Given the description of an element on the screen output the (x, y) to click on. 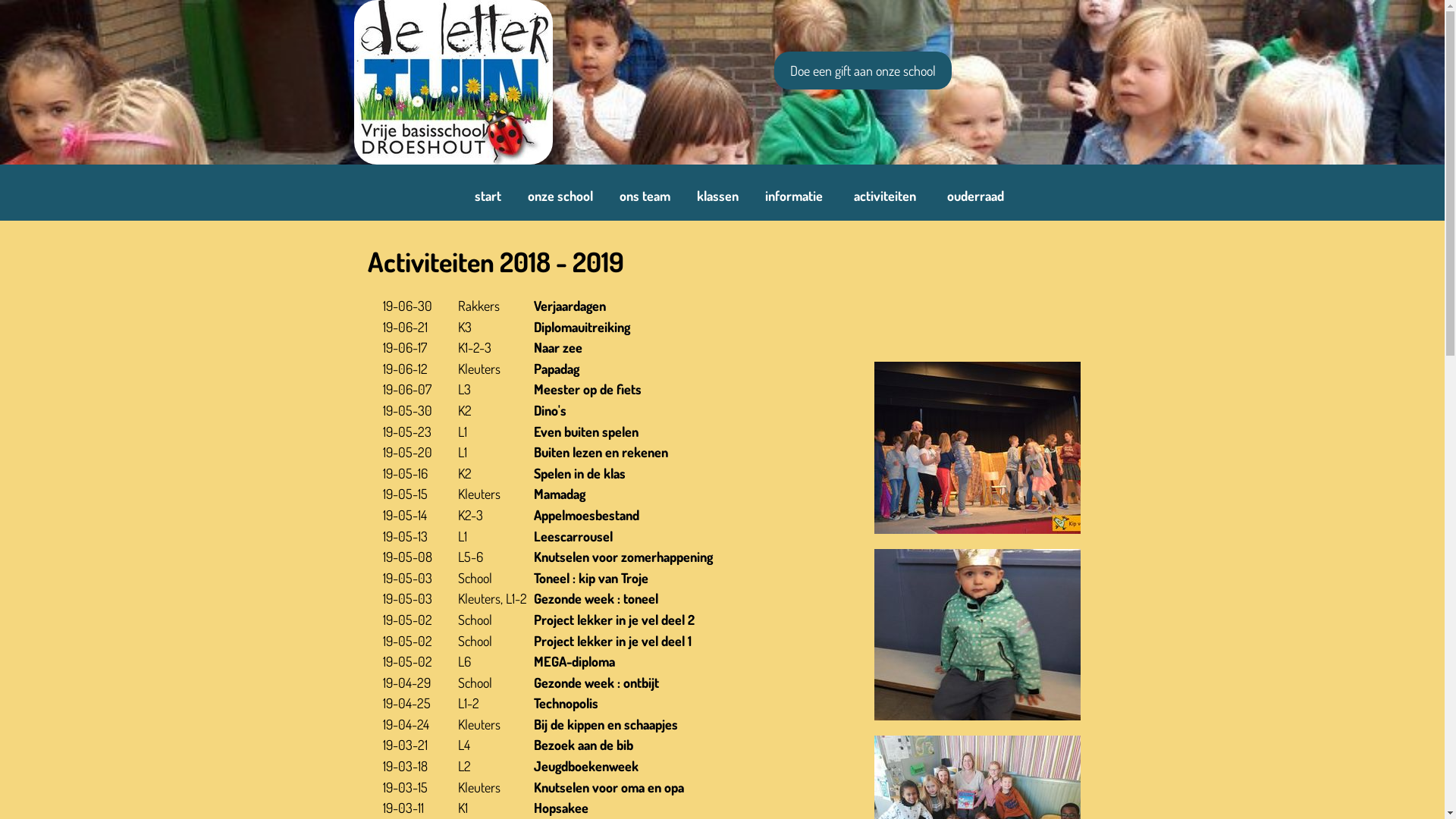
Leescarrousel Element type: text (572, 535)
MEGA-diploma Element type: text (574, 660)
activiteiten Element type: text (884, 195)
DSC_4592 Element type: hover (976, 447)
Gezonde week : ontbijt Element type: text (595, 682)
Doe een gift aan onze school Element type: text (862, 70)
informatie Element type: text (793, 195)
ons team Element type: text (643, 195)
Meester op de fiets Element type: text (587, 388)
Toneel : kip van Troje Element type: text (590, 577)
Mamadag Element type: text (559, 493)
Verjaardagen Element type: text (569, 305)
Appelmoesbestand Element type: text (586, 514)
Hopsakee Element type: text (560, 807)
Papadag Element type: text (556, 368)
Jeugdboekenweek Element type: text (585, 765)
Even buiten spelen Element type: text (585, 431)
Knutselen voor oma en opa Element type: text (608, 786)
Project lekker in je vel deel 1 Element type: text (612, 640)
Gezonde week : toneel Element type: text (595, 597)
onze school Element type: text (560, 195)
Spelen in de klas Element type: text (579, 472)
klassen Element type: text (716, 195)
start Element type: text (487, 195)
Project lekker in je vel deel 2 Element type: text (613, 619)
Knutselen voor zomerhappening Element type: text (622, 556)
Dino's Element type: text (549, 409)
Buiten lezen en rekenen Element type: text (600, 451)
Naar zee Element type: text (557, 346)
Bij de kippen en schaapjes Element type: text (605, 723)
Technopolis Element type: text (565, 702)
ouderraad Element type: text (974, 195)
Diplomauitreiking Element type: text (581, 326)
Bezoek aan de bib Element type: text (583, 744)
